Given the description of an element on the screen output the (x, y) to click on. 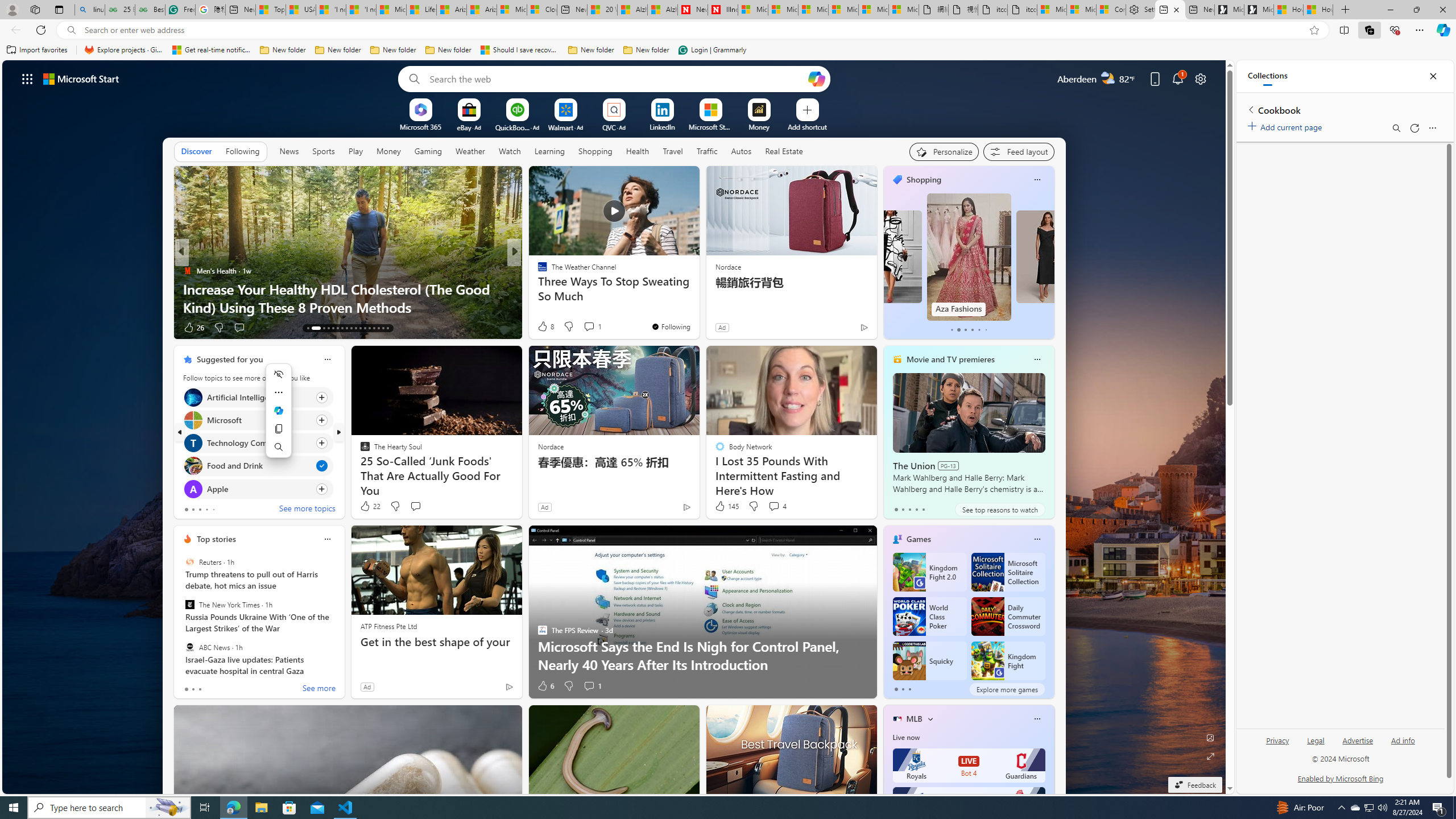
Men's Health (187, 270)
View comments 4 Comment (776, 505)
View comments 65 Comment (594, 327)
Top stories (215, 538)
App launcher (27, 78)
AutomationID: tab-16 (328, 328)
View comments 3 Comment (592, 327)
